Given the description of an element on the screen output the (x, y) to click on. 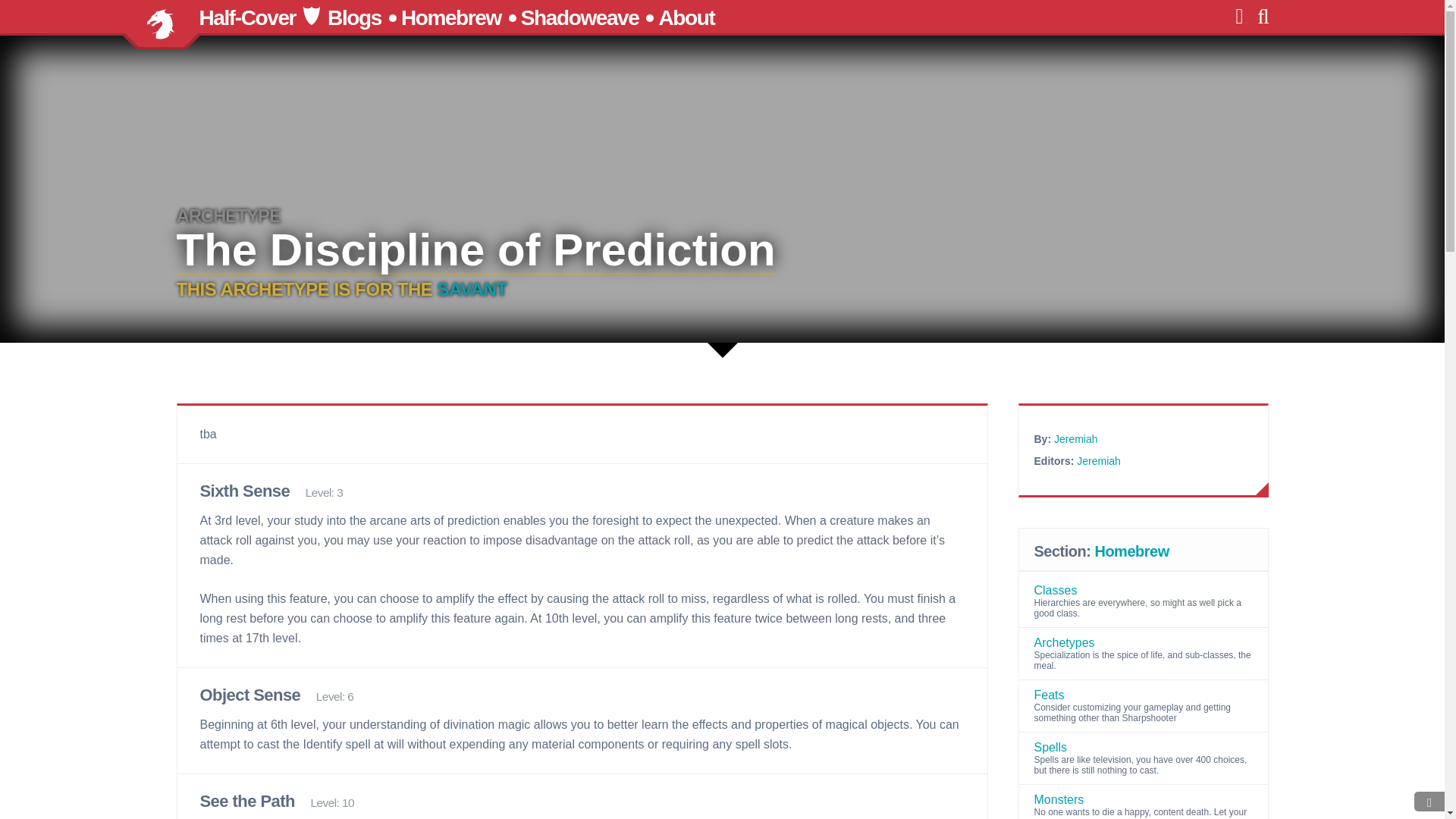
About (686, 17)
Homebrew (450, 17)
Half-Cover (246, 17)
Jeremiah (1075, 439)
Jeremiah (1099, 460)
Blogs (354, 17)
SAVANT (471, 289)
Shadoweave (580, 17)
